Given the description of an element on the screen output the (x, y) to click on. 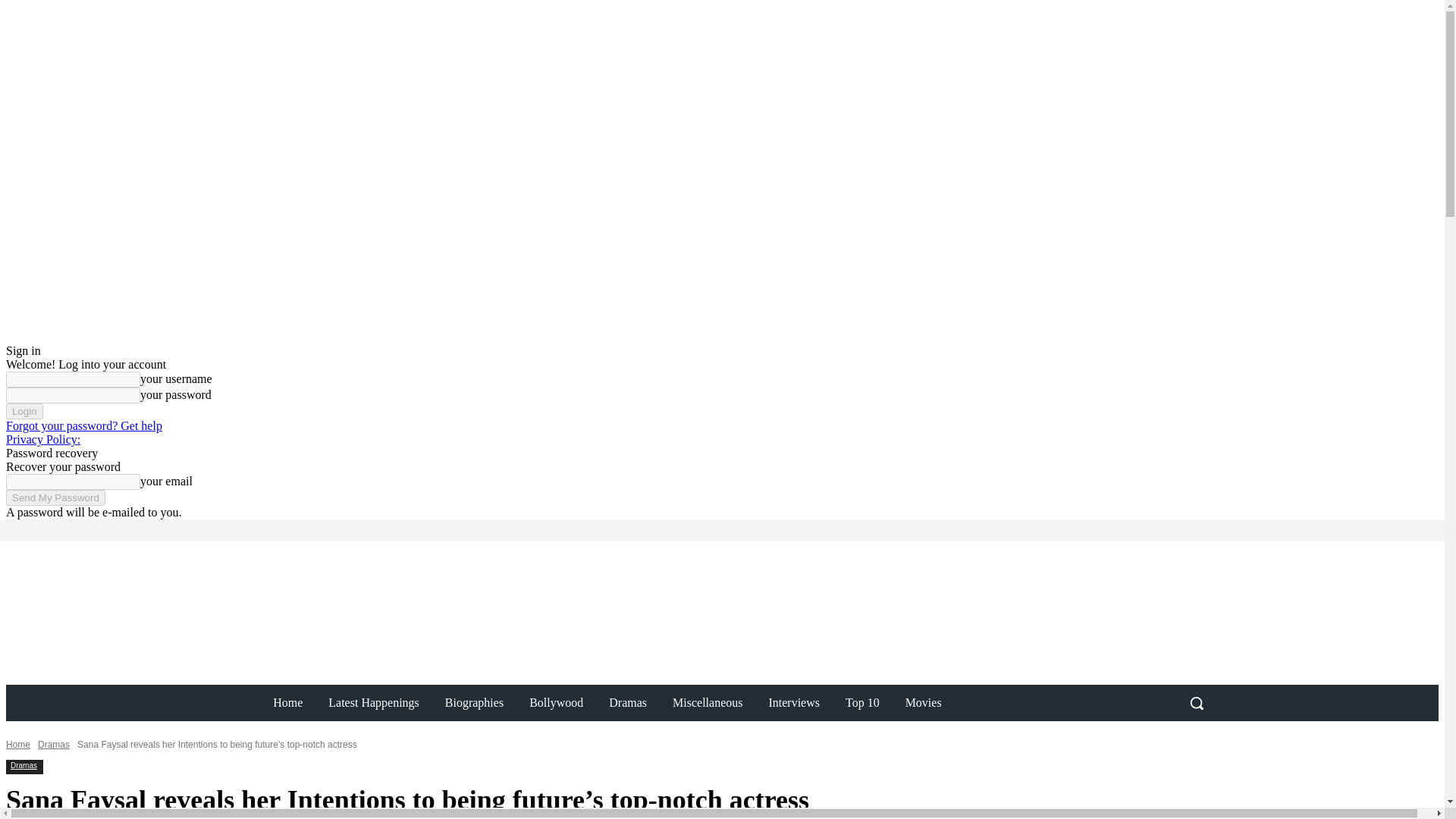
Forgot your password? Get help (83, 425)
Dramas (23, 766)
Biographies (474, 702)
View all posts in Dramas (53, 744)
Instagram (225, 529)
Miscellaneous (707, 702)
Dramas (627, 702)
Pinterest (247, 529)
Login (24, 411)
Privacy Policy: (42, 439)
Facebook (203, 529)
Top 10 (862, 702)
Bollywood (555, 702)
Interviews (793, 702)
Home (17, 744)
